Given the description of an element on the screen output the (x, y) to click on. 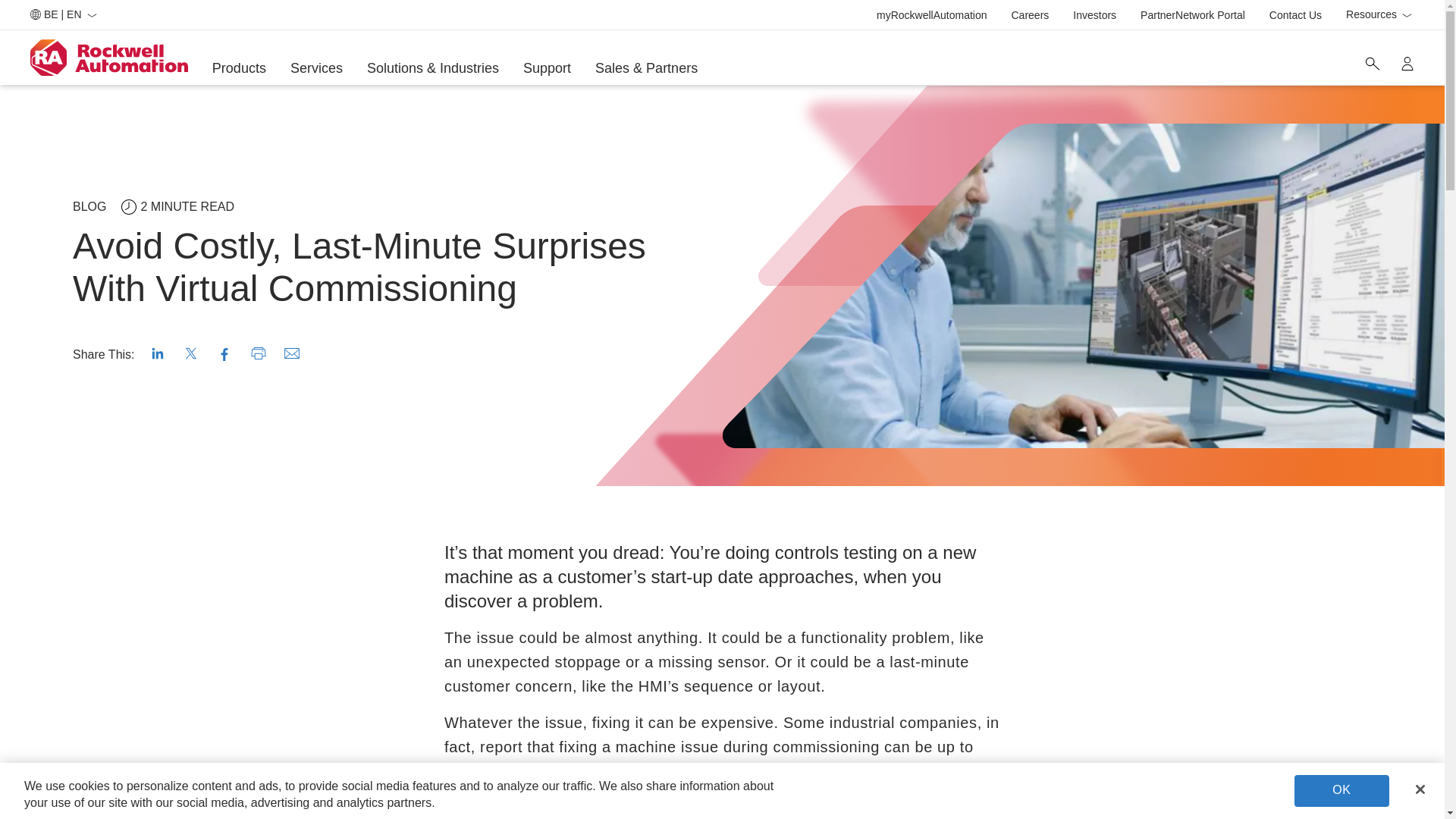
Products (1379, 15)
Contact Us (239, 68)
Investors (1295, 15)
Chevron DownChevron Down (1094, 15)
myRockwellAutomation (1406, 15)
Chevron DownChevron Down (931, 15)
UserUser (91, 15)
Careers (1406, 63)
